Given the description of an element on the screen output the (x, y) to click on. 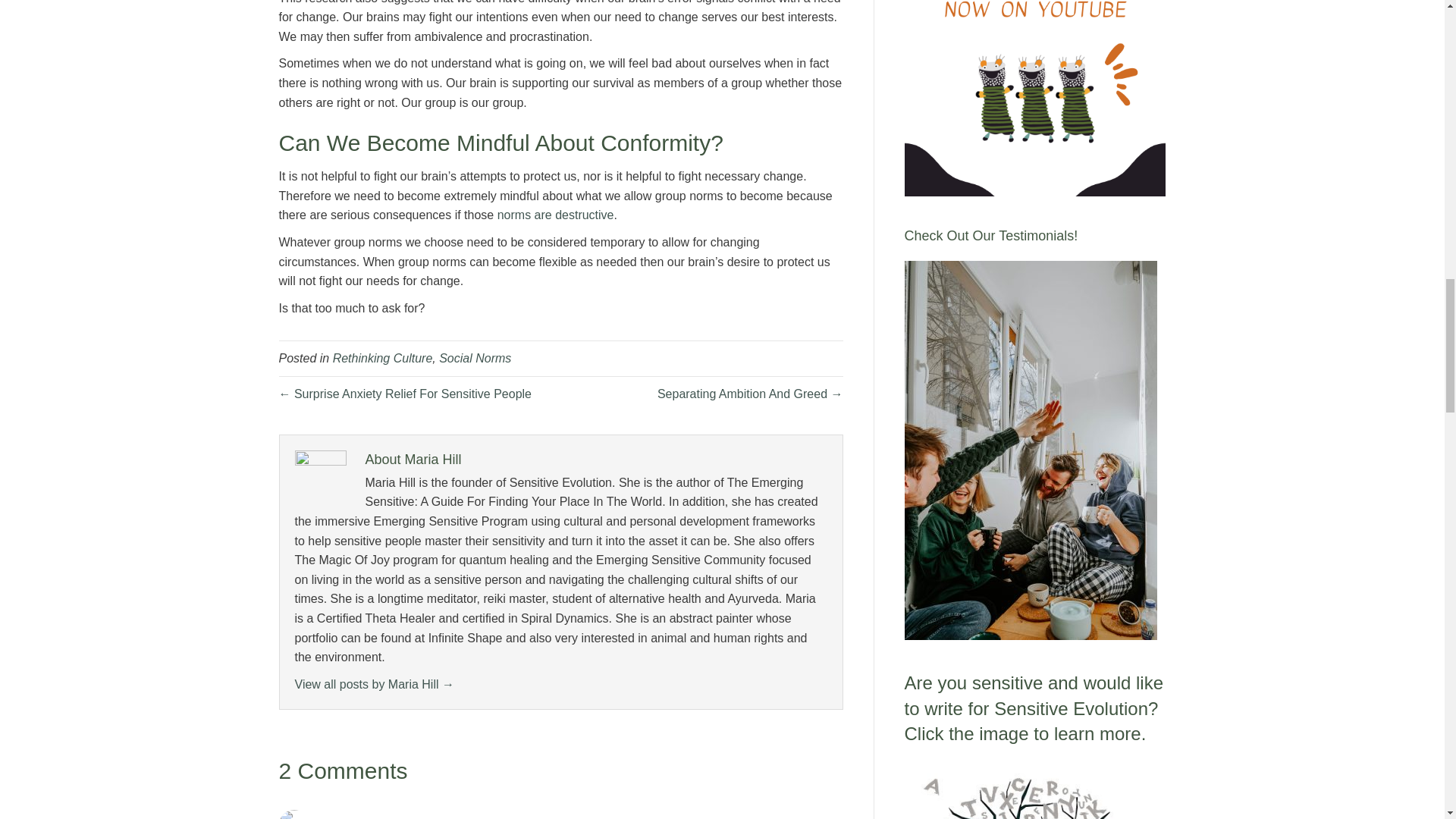
norms are destructive (555, 214)
Social Norms (475, 358)
Rethinking Culture (382, 358)
